Given the description of an element on the screen output the (x, y) to click on. 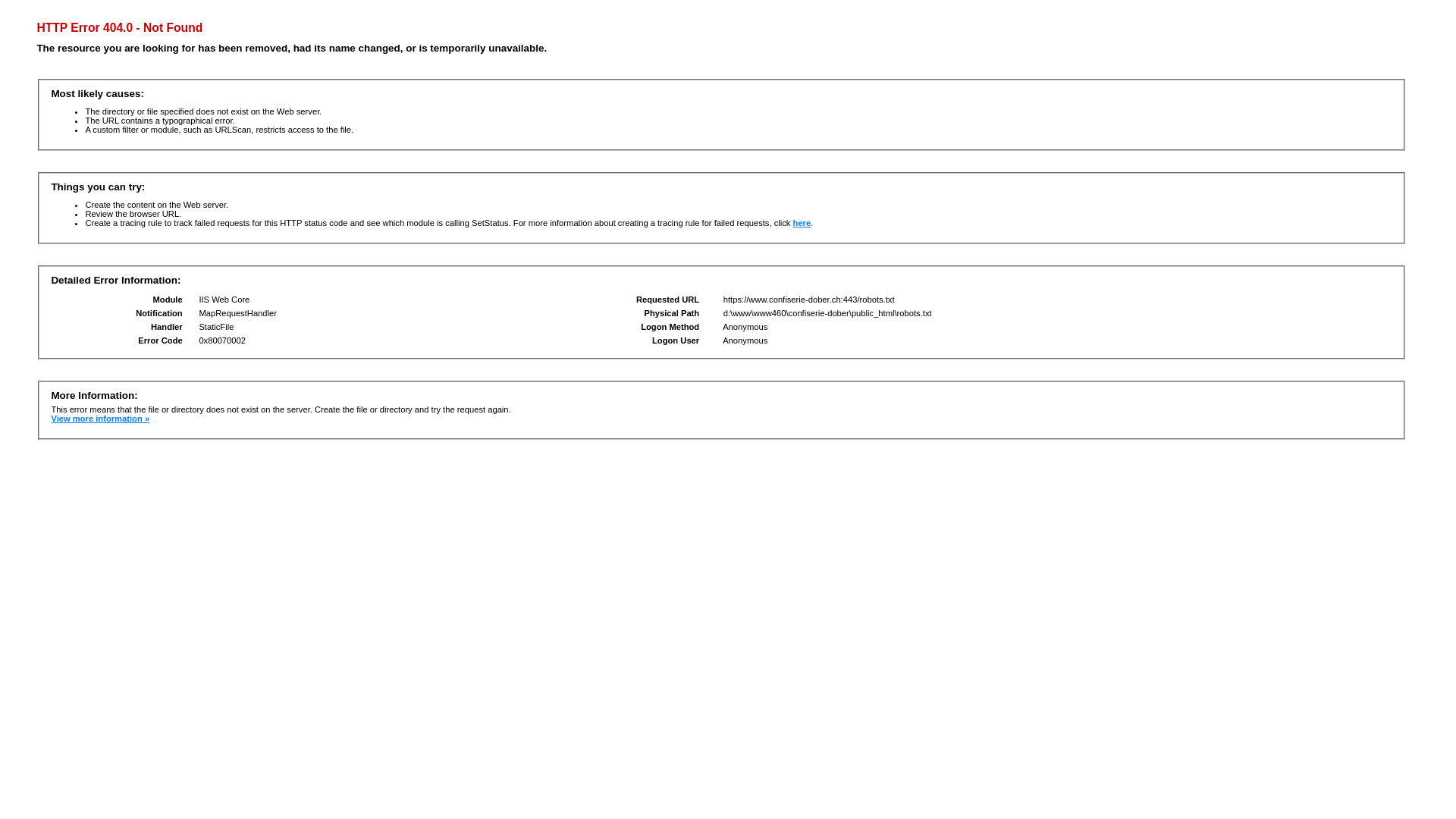
here Element type: text (802, 222)
